Given the description of an element on the screen output the (x, y) to click on. 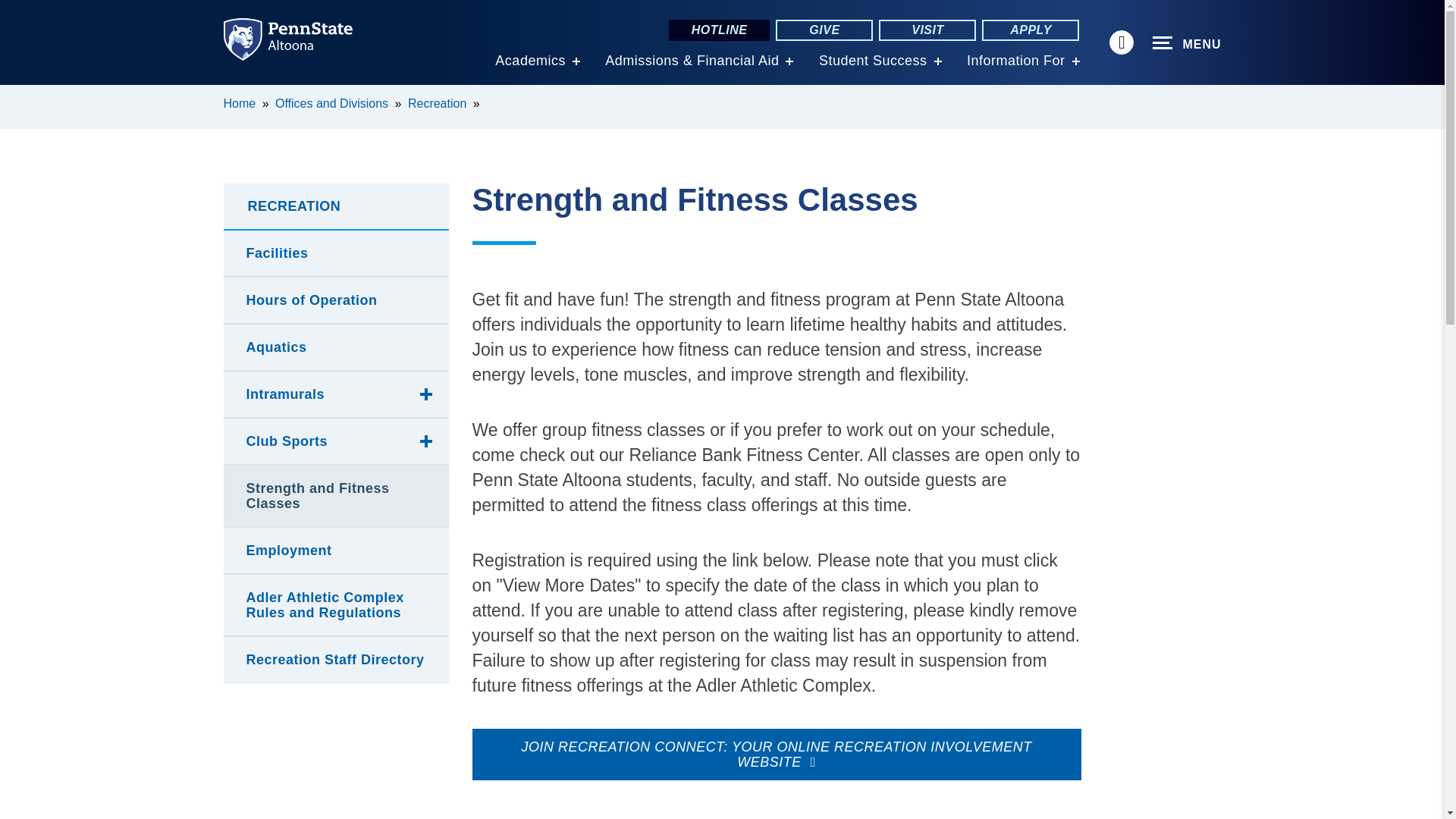
MENU (1187, 43)
GIVE (824, 29)
APPLY (1029, 29)
Student Success (872, 60)
Academics (530, 60)
VISIT (927, 29)
HOTLINE (719, 29)
SKIP TO MAIN CONTENT (19, 95)
